Given the description of an element on the screen output the (x, y) to click on. 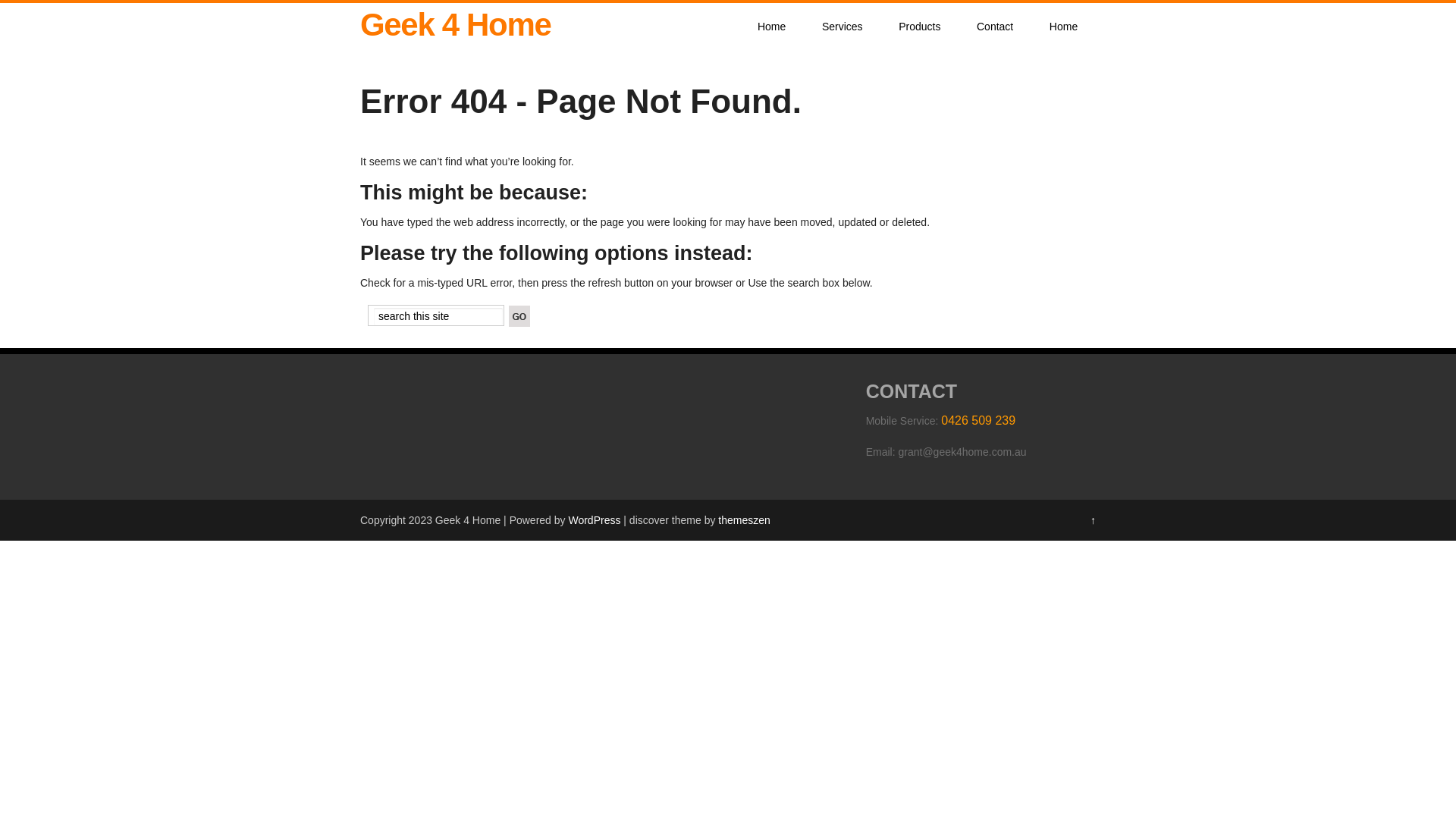
Products Element type: text (919, 26)
Services Element type: text (841, 26)
themeszen Element type: text (743, 520)
Contact Element type: text (994, 26)
Home Element type: text (771, 26)
Home Element type: text (1063, 26)
WordPress Element type: text (593, 520)
Geek 4 Home Element type: text (455, 24)
